Given the description of an element on the screen output the (x, y) to click on. 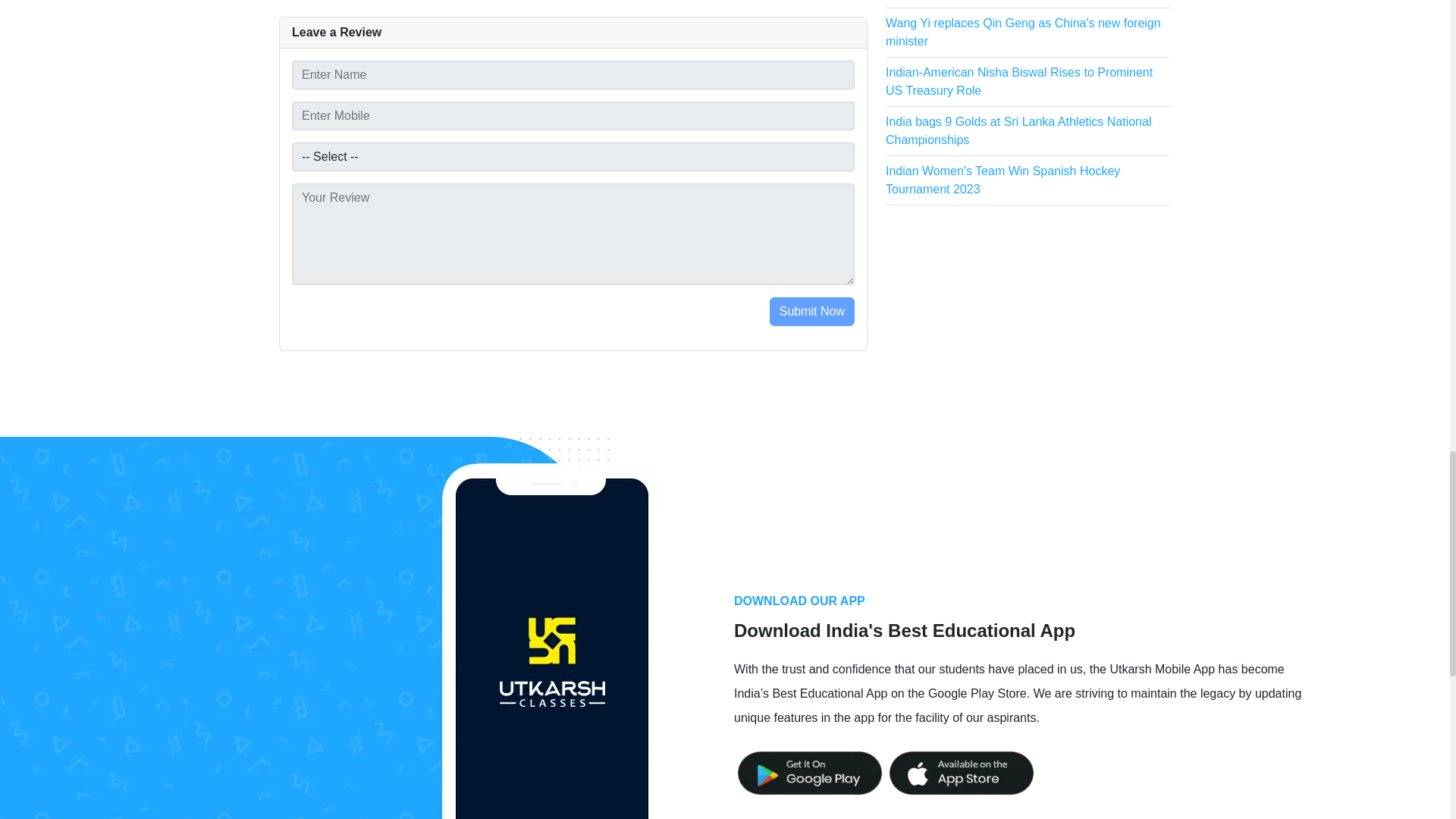
Android App (809, 772)
Submit Now (812, 311)
IOS App (960, 772)
